Given the description of an element on the screen output the (x, y) to click on. 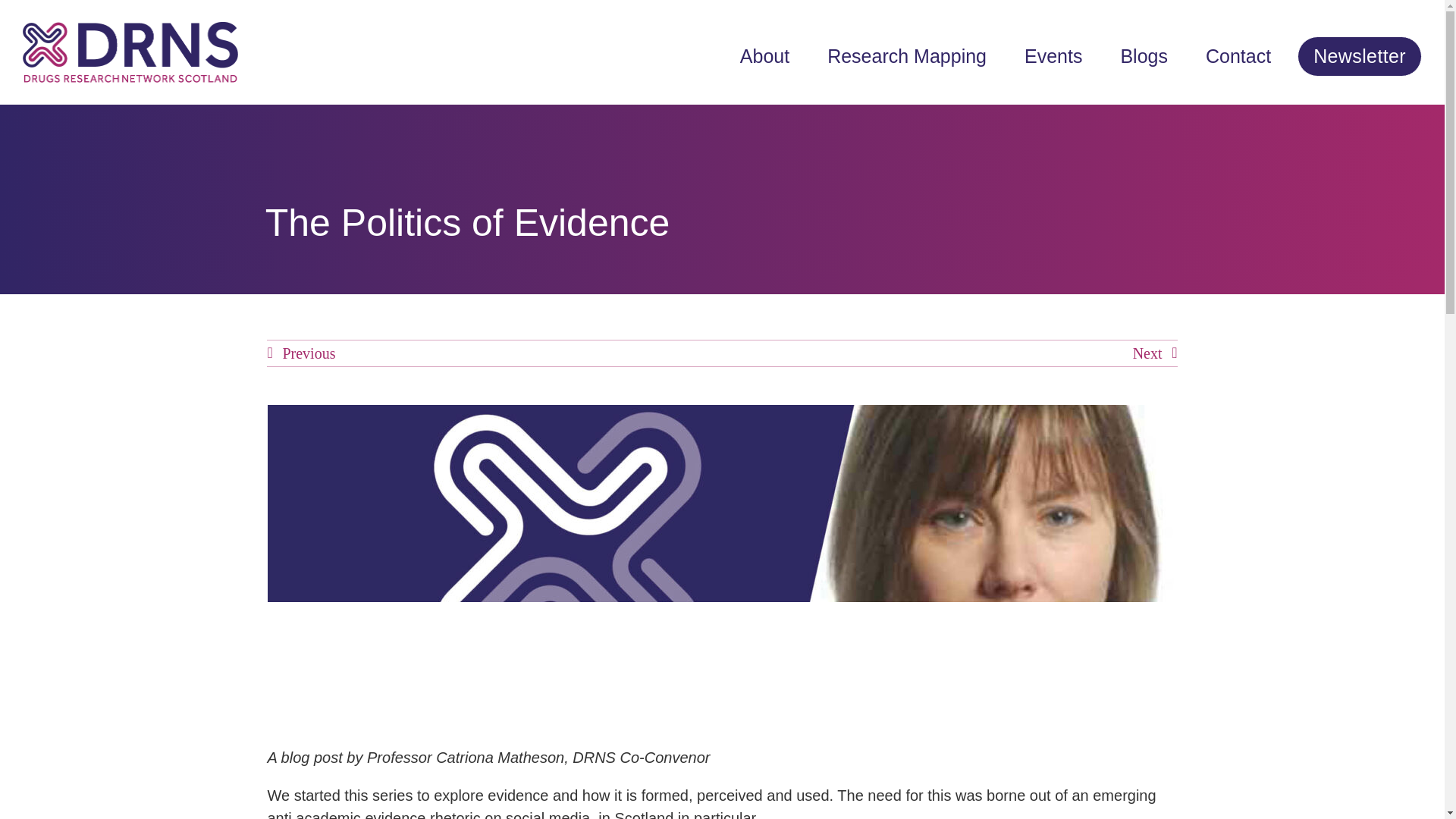
Blogs (1150, 55)
Previous (300, 352)
Events (1060, 55)
Next (1154, 352)
Newsletter (1359, 56)
Contact (1245, 55)
Research Mapping (914, 55)
About (772, 55)
